Given the description of an element on the screen output the (x, y) to click on. 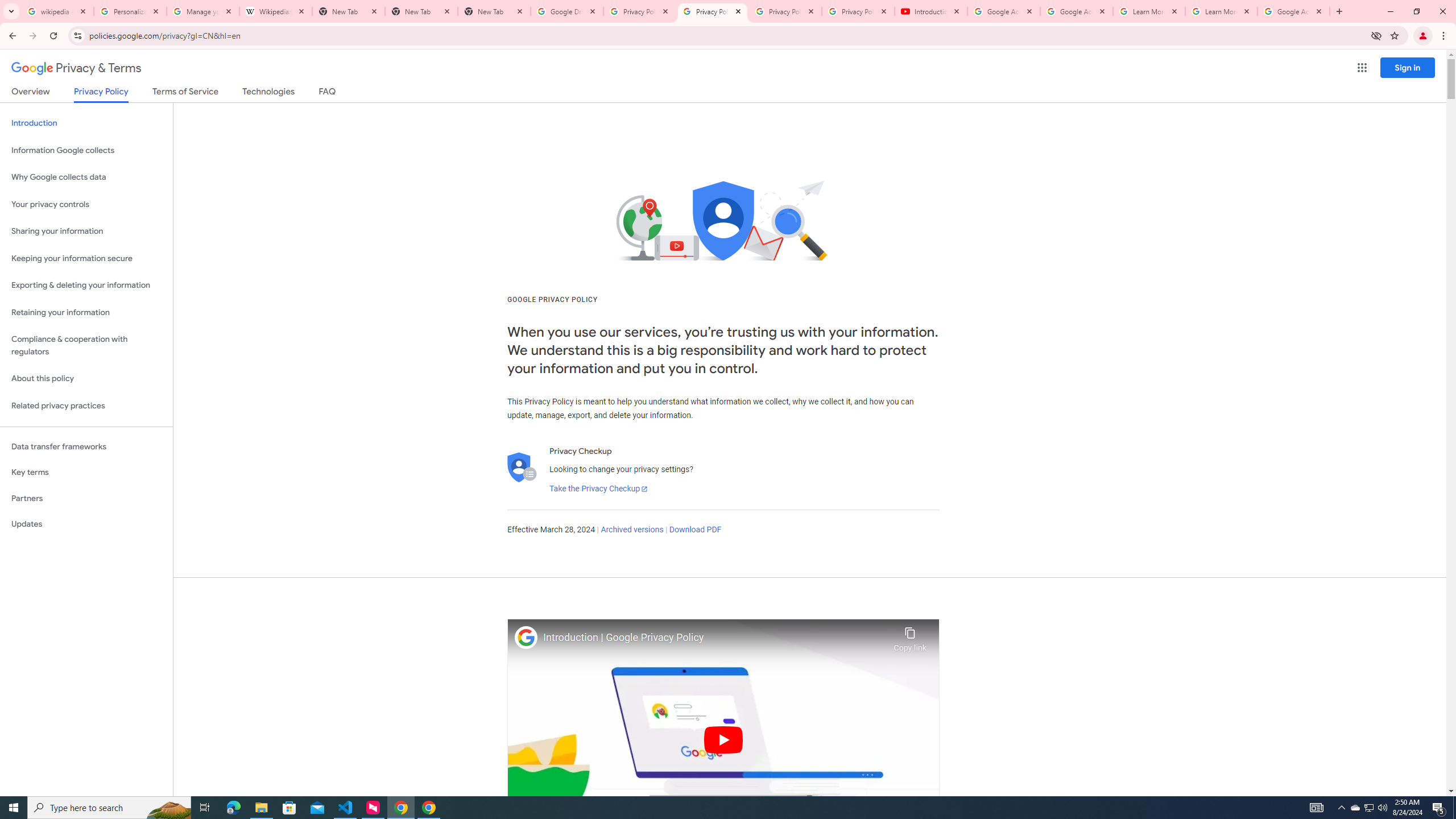
Google Account (1293, 11)
About this policy (86, 379)
Partners (86, 497)
Introduction | Google Privacy Policy (715, 637)
Data transfer frameworks (86, 446)
Play (723, 739)
FAQ (327, 93)
Retaining your information (86, 312)
Information Google collects (86, 150)
